Given the description of an element on the screen output the (x, y) to click on. 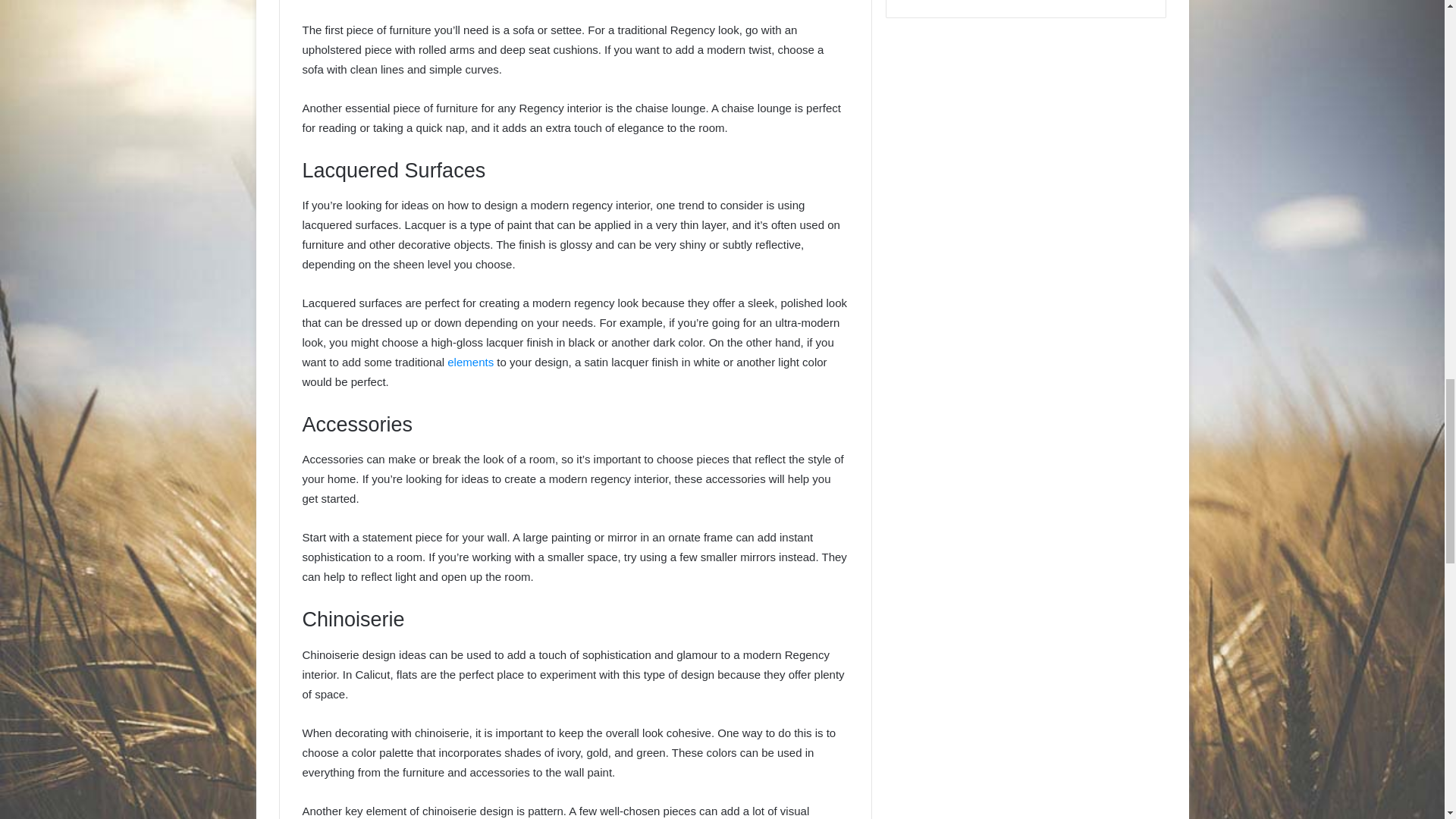
elements (469, 361)
